Given the description of an element on the screen output the (x, y) to click on. 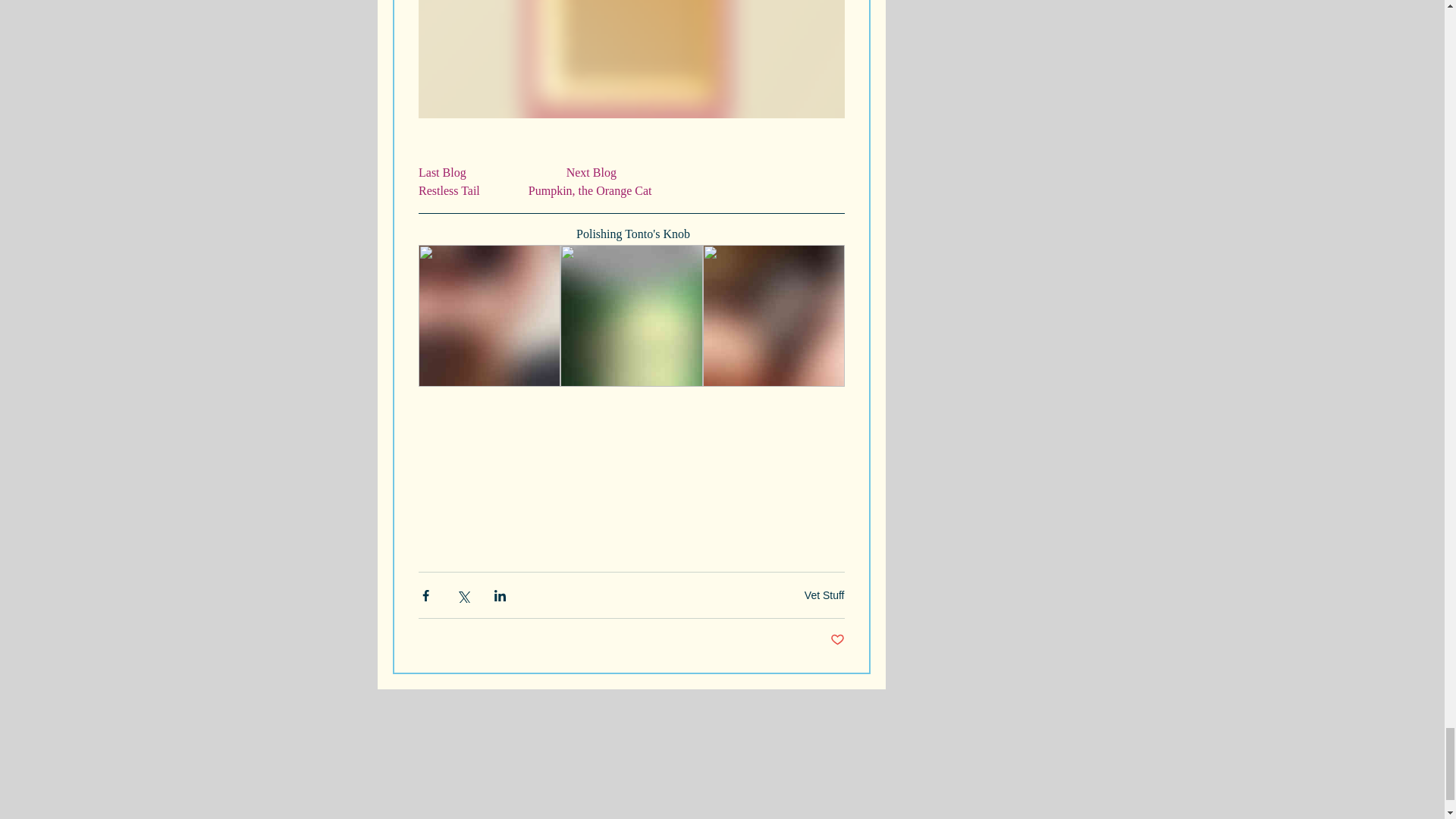
Post not marked as liked (836, 640)
Vet Stuff (824, 594)
